Given the description of an element on the screen output the (x, y) to click on. 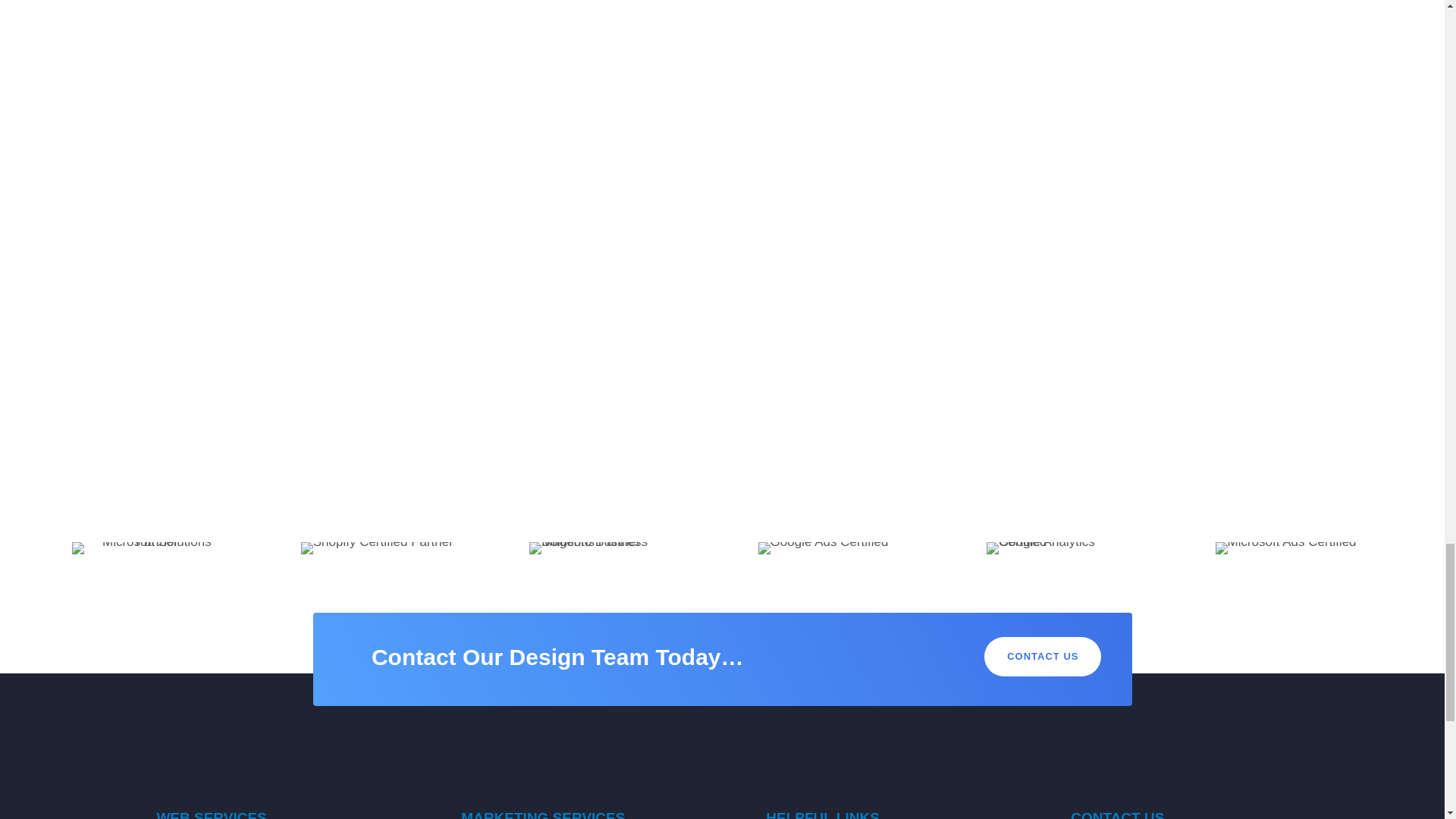
Magento Business Solutions Partner (607, 547)
Microsoft Ads Certified (1285, 547)
Microsoft Solutions Partner (149, 547)
Shopify Certified Partner (376, 547)
CONTACT US (1042, 656)
Google Analytics Certified (1064, 547)
Google Ads Certified (823, 547)
